Given the description of an element on the screen output the (x, y) to click on. 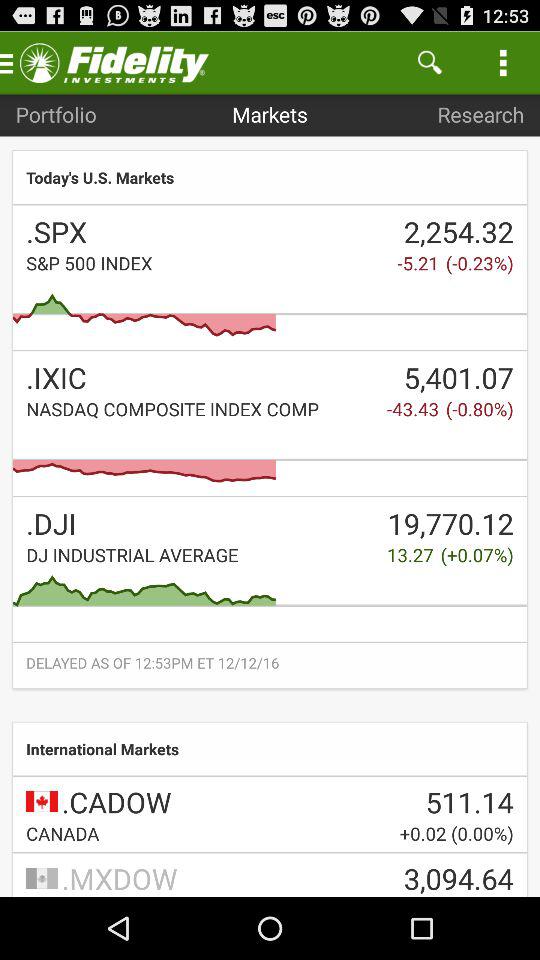
press the item next to markets item (429, 62)
